Given the description of an element on the screen output the (x, y) to click on. 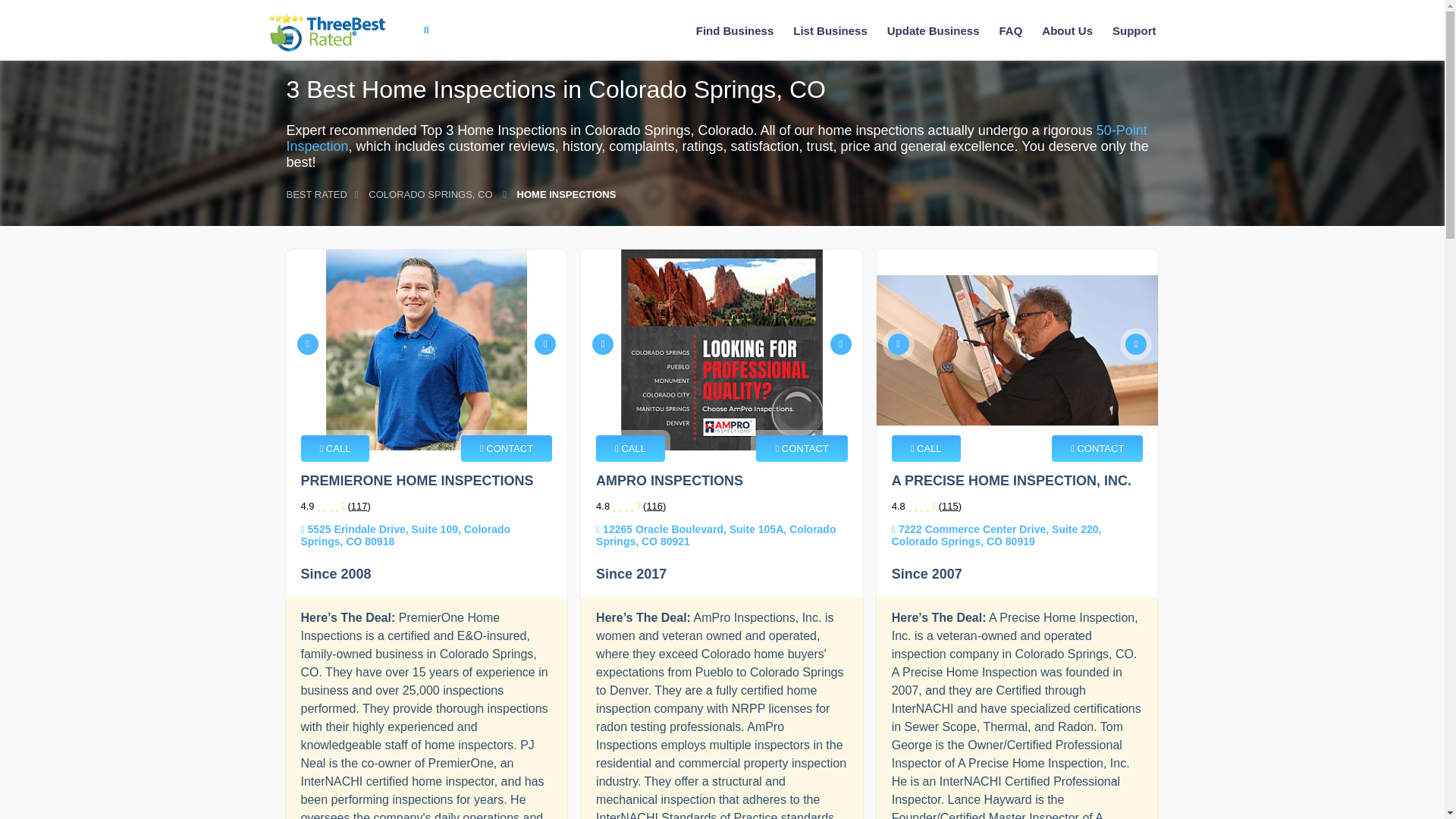
CALL (630, 447)
BEST RATED (317, 194)
50-Point Inspection (716, 137)
Update Business (933, 30)
Support (1134, 30)
CONTACT (801, 447)
About Us (1066, 30)
CONTACT (506, 447)
